Given the description of an element on the screen output the (x, y) to click on. 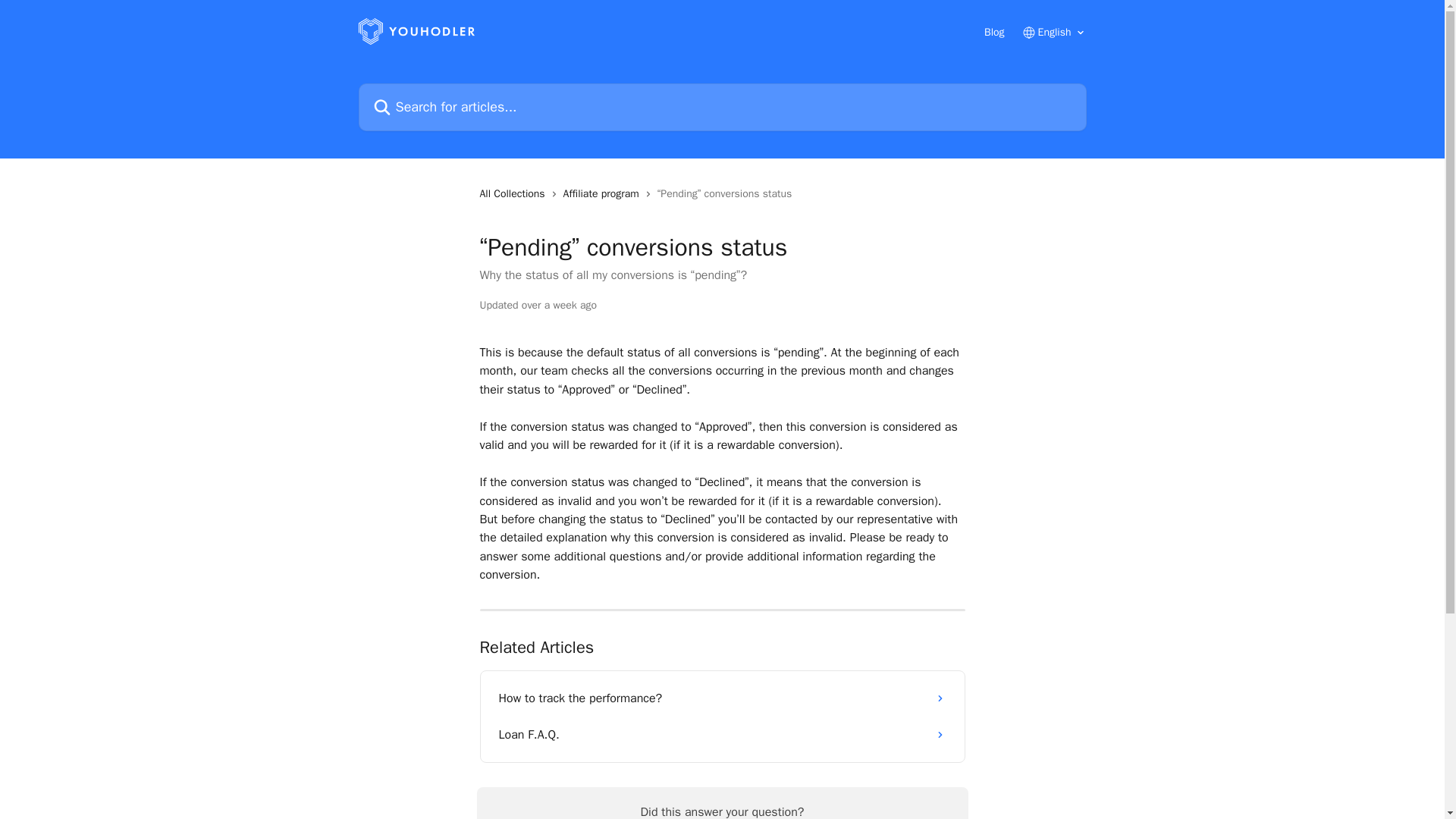
Loan F.A.Q. (722, 734)
Blog (994, 32)
How to track the performance? (722, 698)
Affiliate program (604, 193)
All Collections (514, 193)
